Given the description of an element on the screen output the (x, y) to click on. 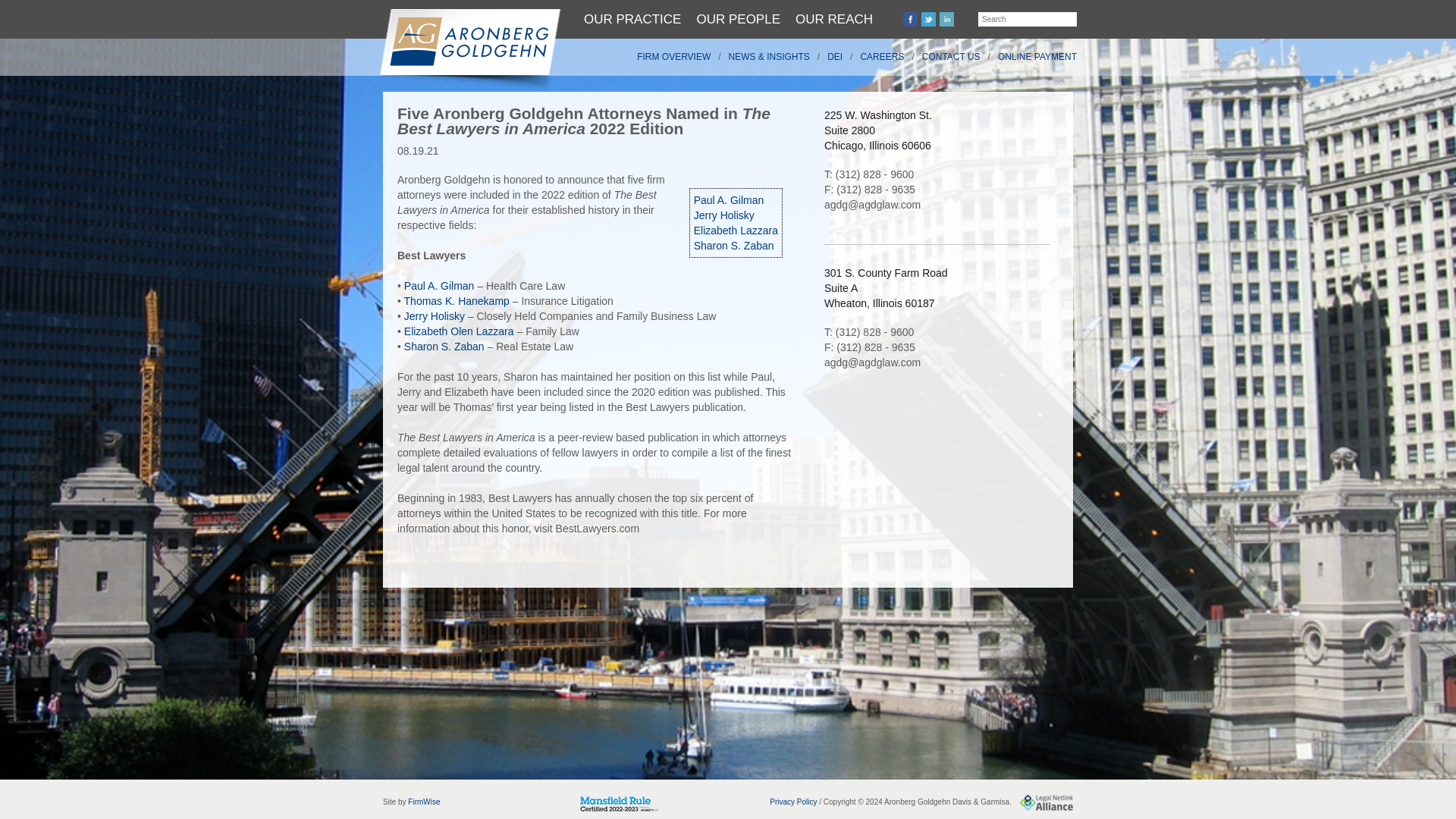
OUR PRACTICE (632, 19)
Follow us on Twitter (928, 19)
OUR PEOPLE (737, 19)
Join us on Facebook (909, 19)
Connect on Linkedin (946, 19)
Law Firm Website Hosting and Content Management System (423, 801)
